Given the description of an element on the screen output the (x, y) to click on. 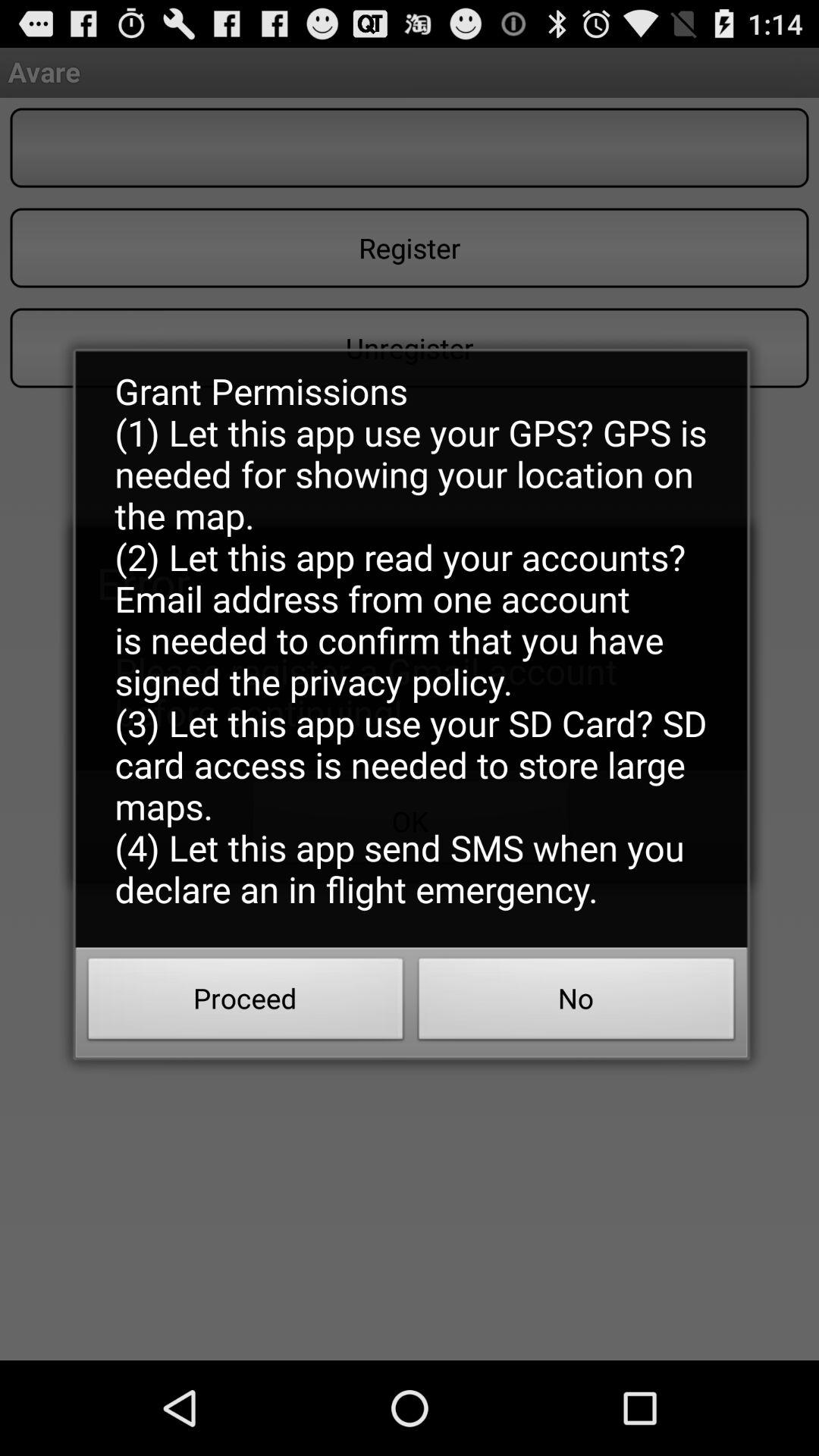
press icon to the left of the no (245, 1003)
